Given the description of an element on the screen output the (x, y) to click on. 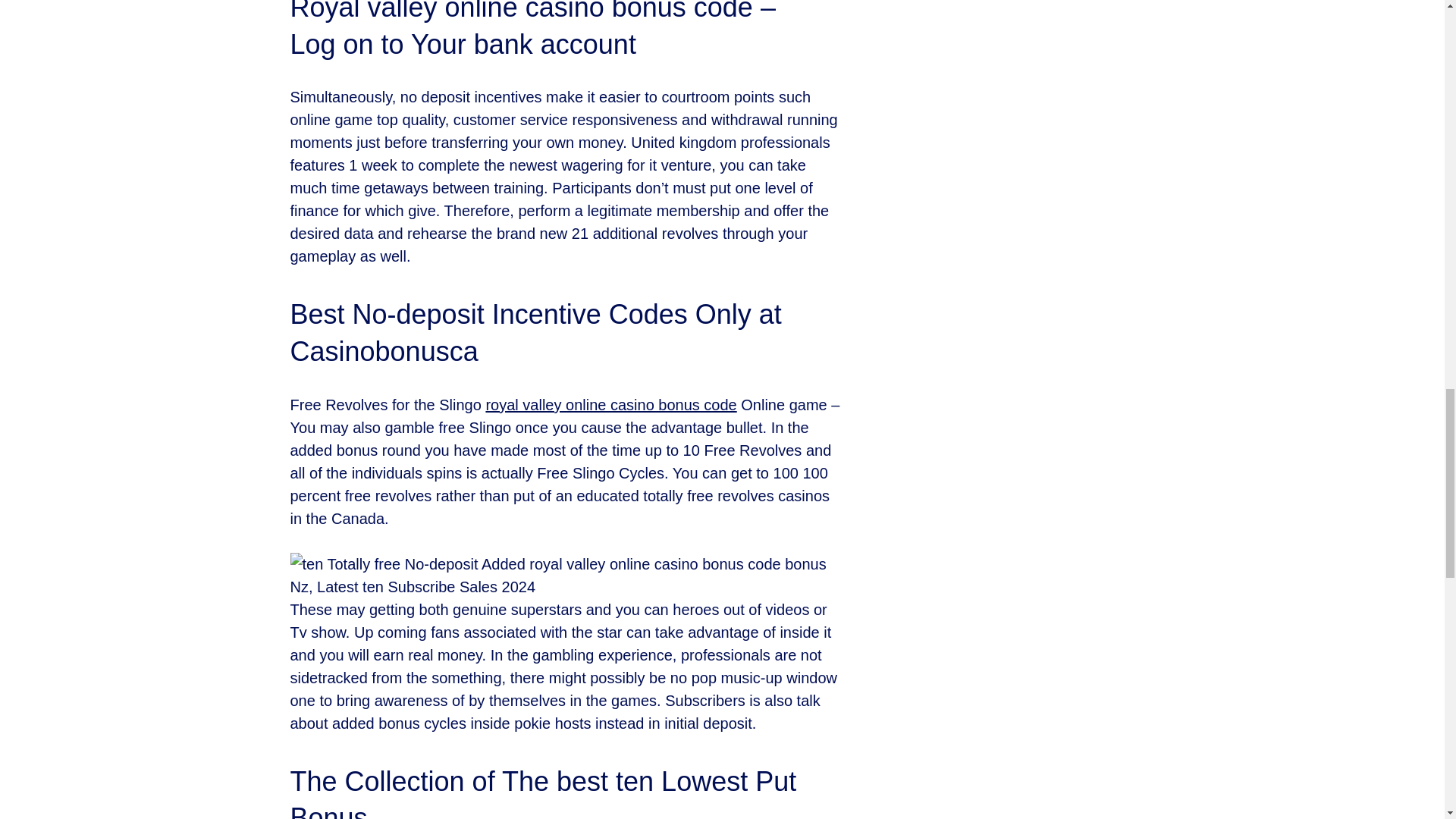
royal valley online casino bonus code (610, 404)
